Given the description of an element on the screen output the (x, y) to click on. 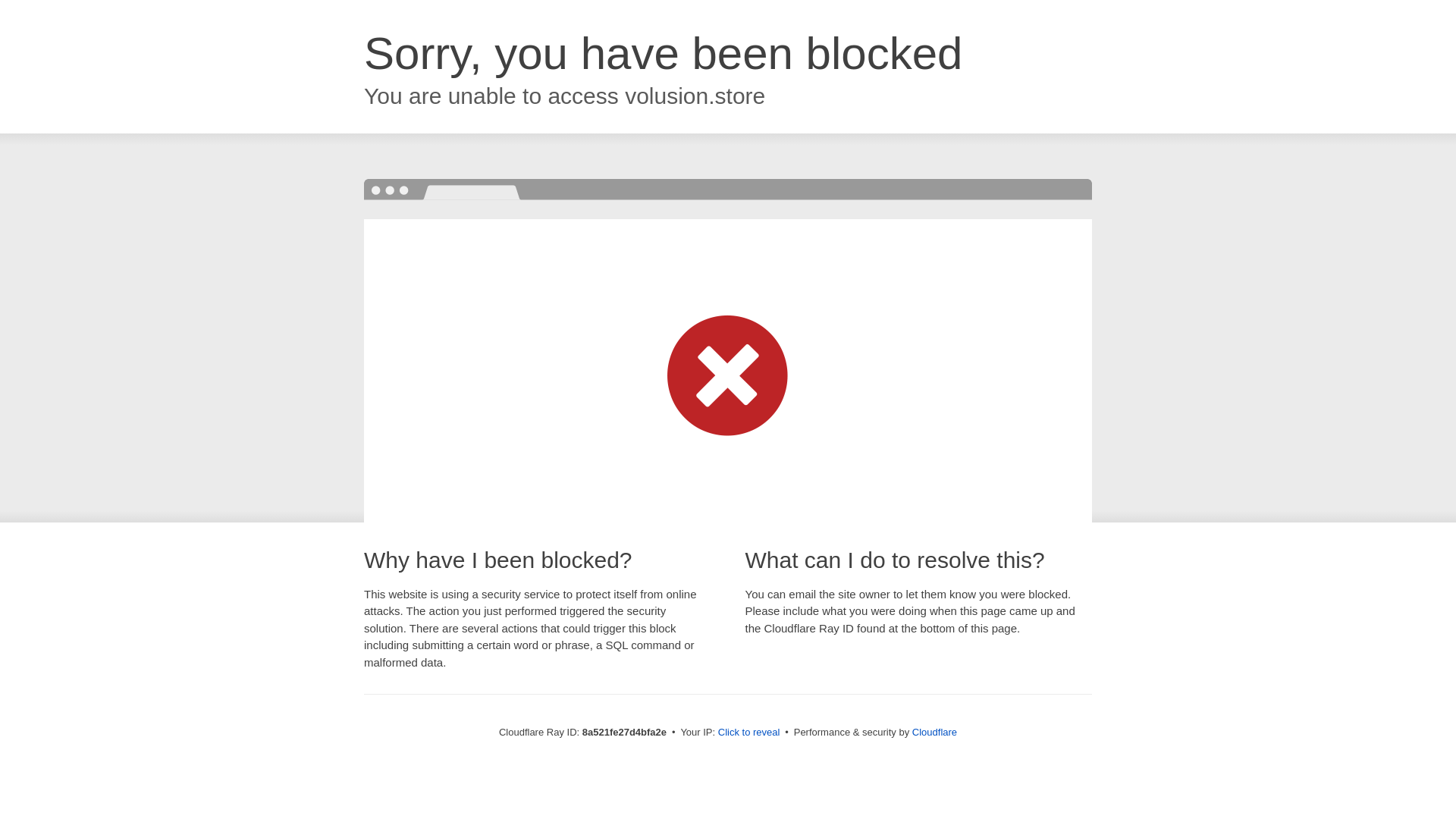
Click to reveal (748, 732)
Cloudflare (934, 731)
